Given the description of an element on the screen output the (x, y) to click on. 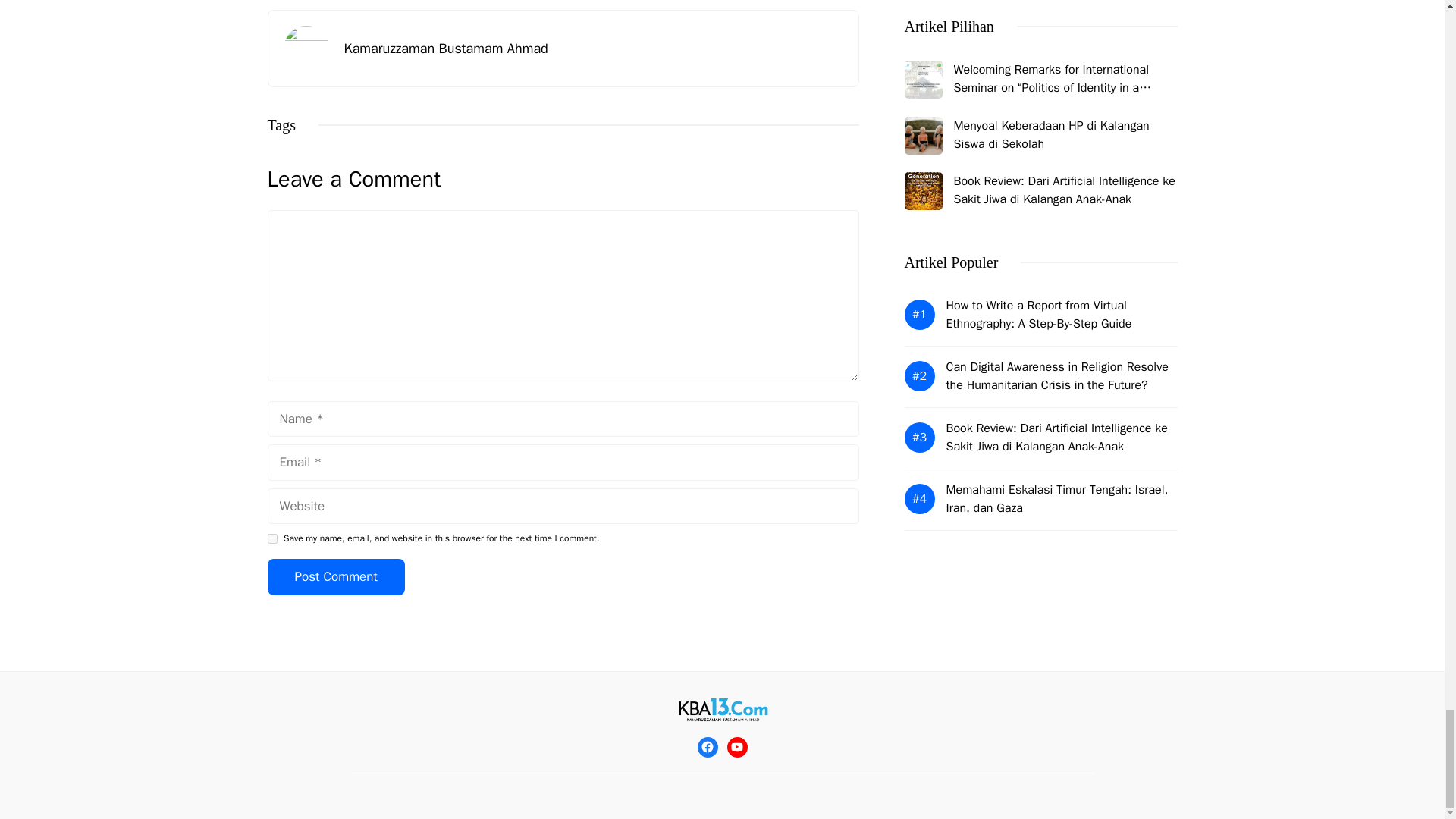
Post Comment (335, 576)
yes (271, 538)
